Given the description of an element on the screen output the (x, y) to click on. 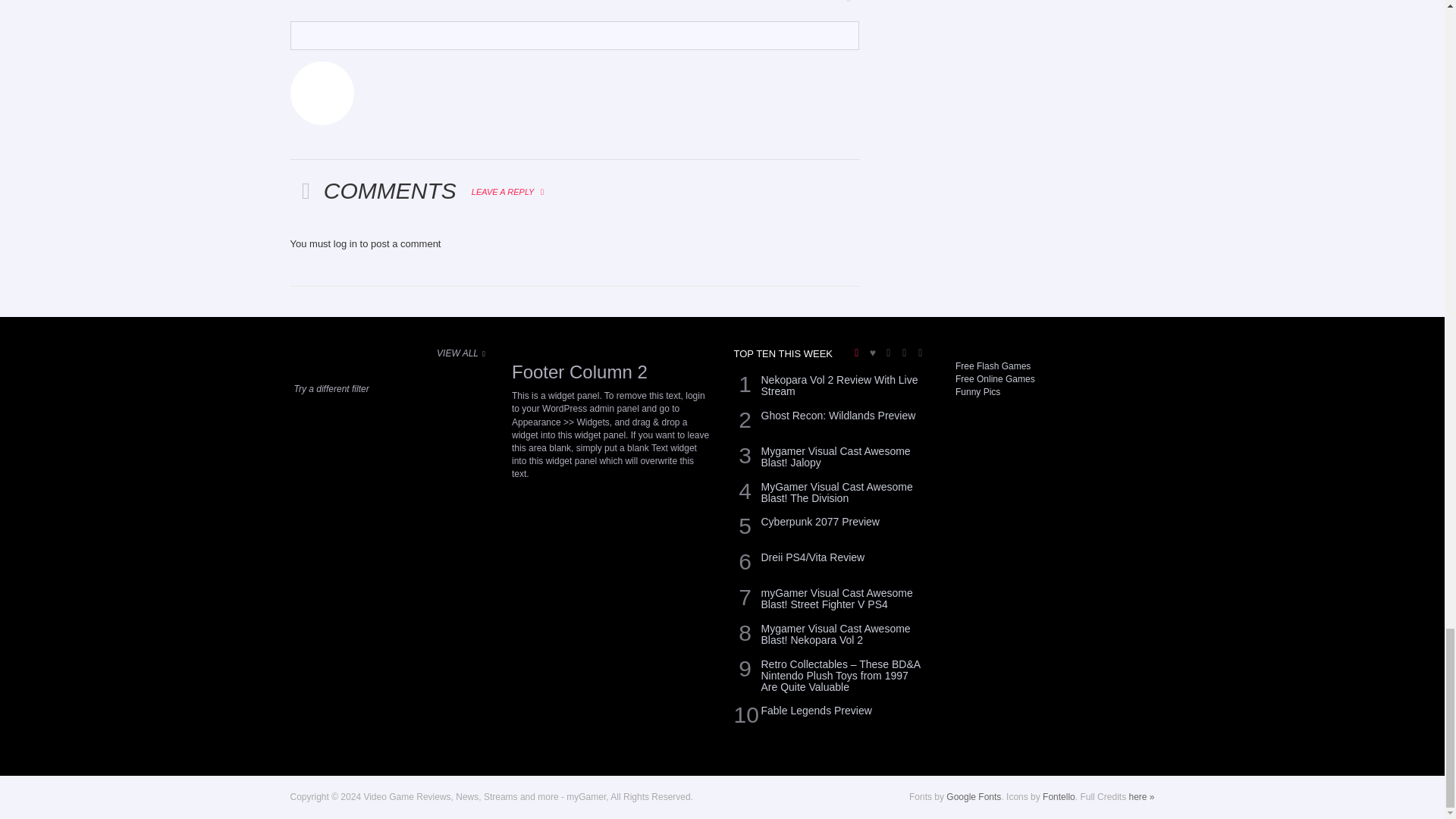
log in (344, 243)
See all posts from this author (300, 29)
See all posts from this author (322, 92)
